Given the description of an element on the screen output the (x, y) to click on. 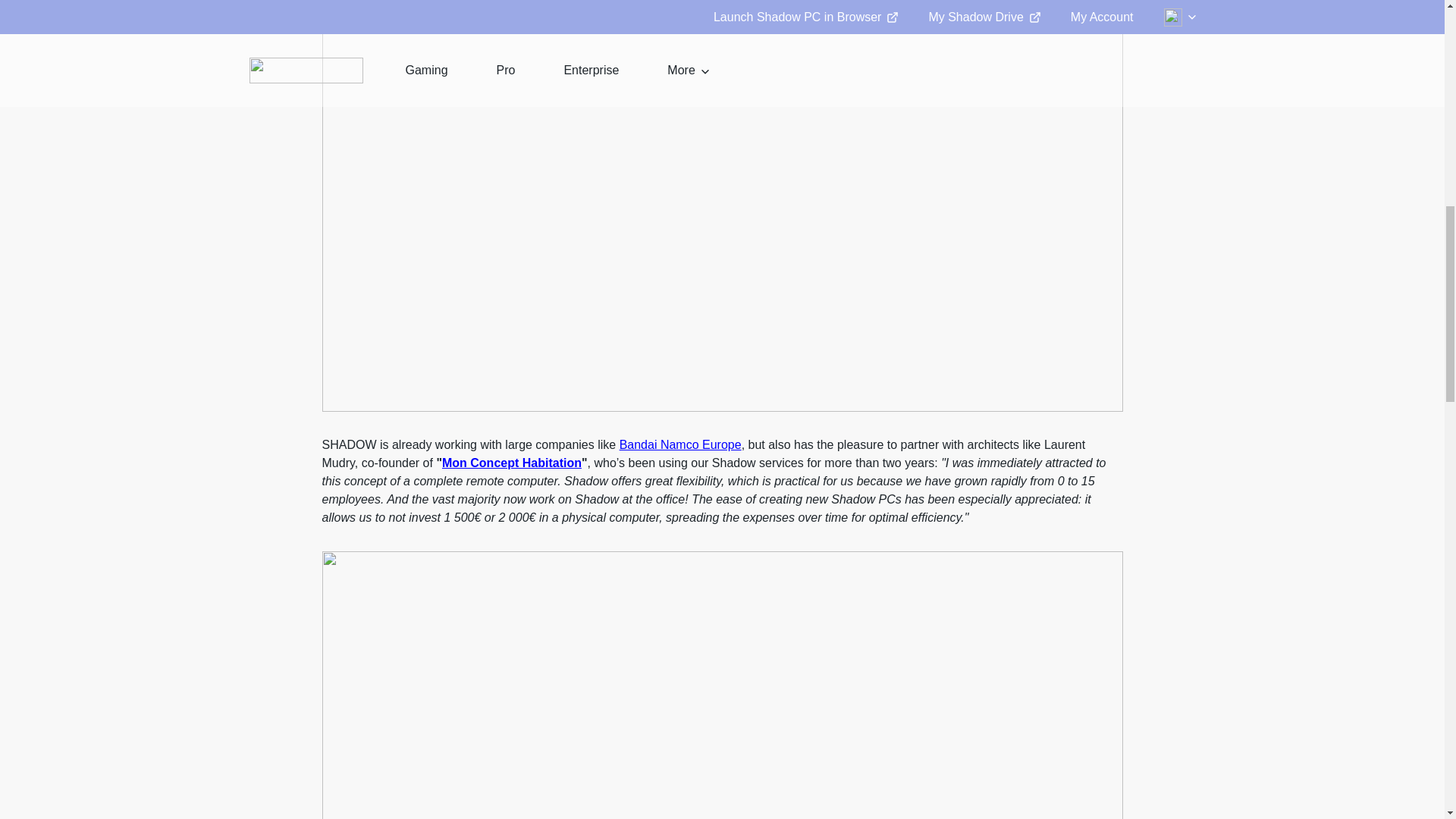
Bandai Namco Europe (680, 444)
Mon Concept Habitation (511, 462)
